Given the description of an element on the screen output the (x, y) to click on. 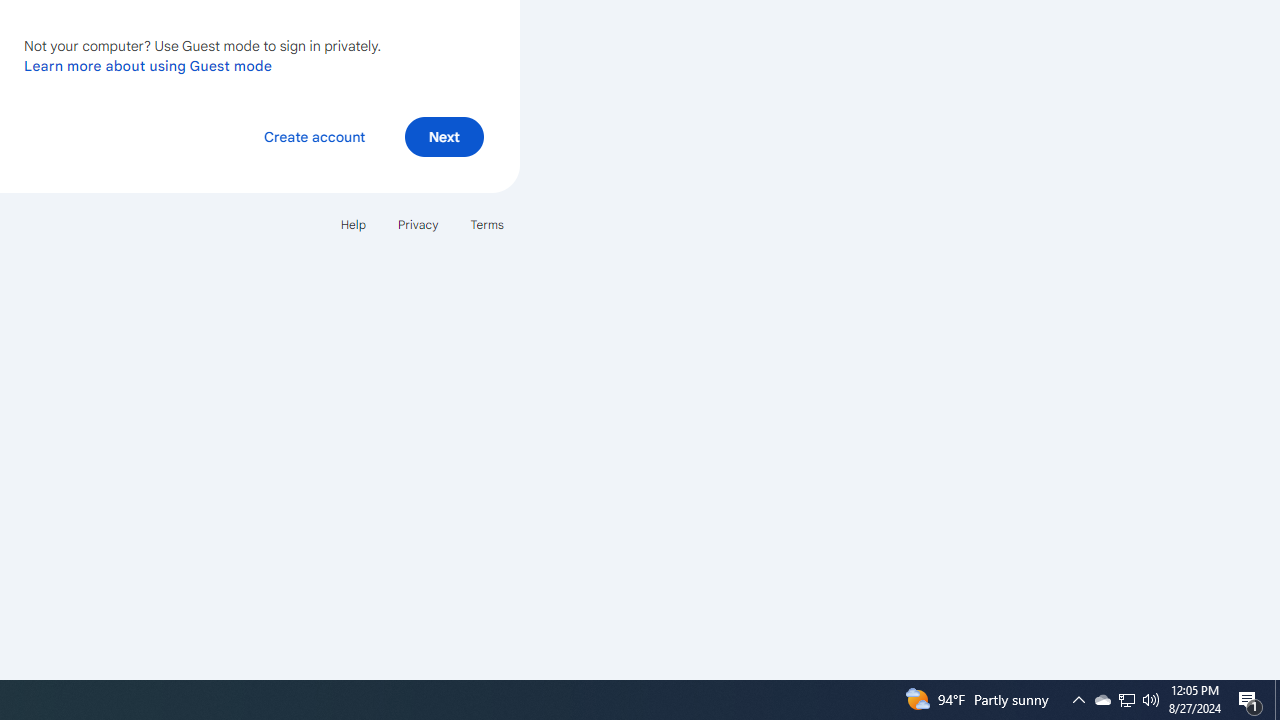
Next (443, 135)
Learn more about using Guest mode (148, 65)
Create account (314, 135)
